Given the description of an element on the screen output the (x, y) to click on. 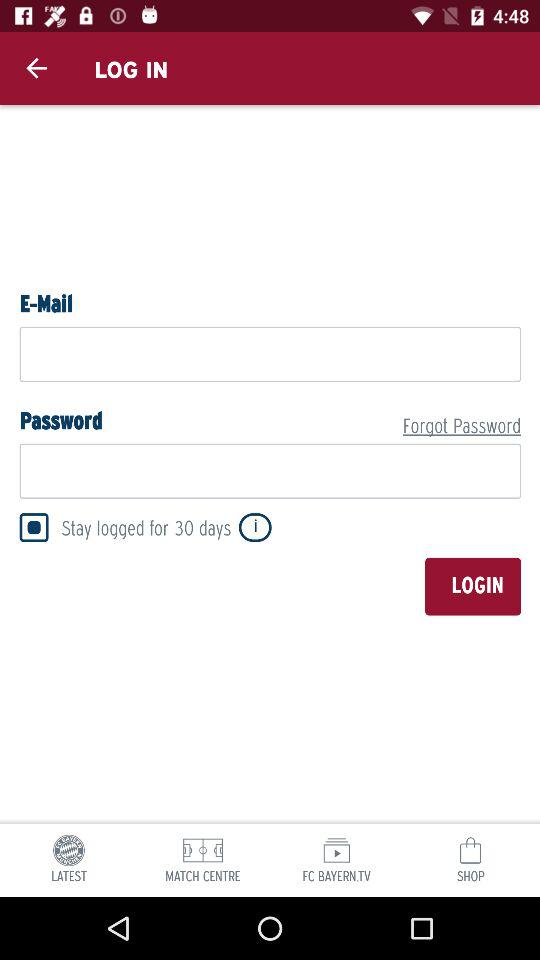
click on the icon above shop (470, 850)
